Given the description of an element on the screen output the (x, y) to click on. 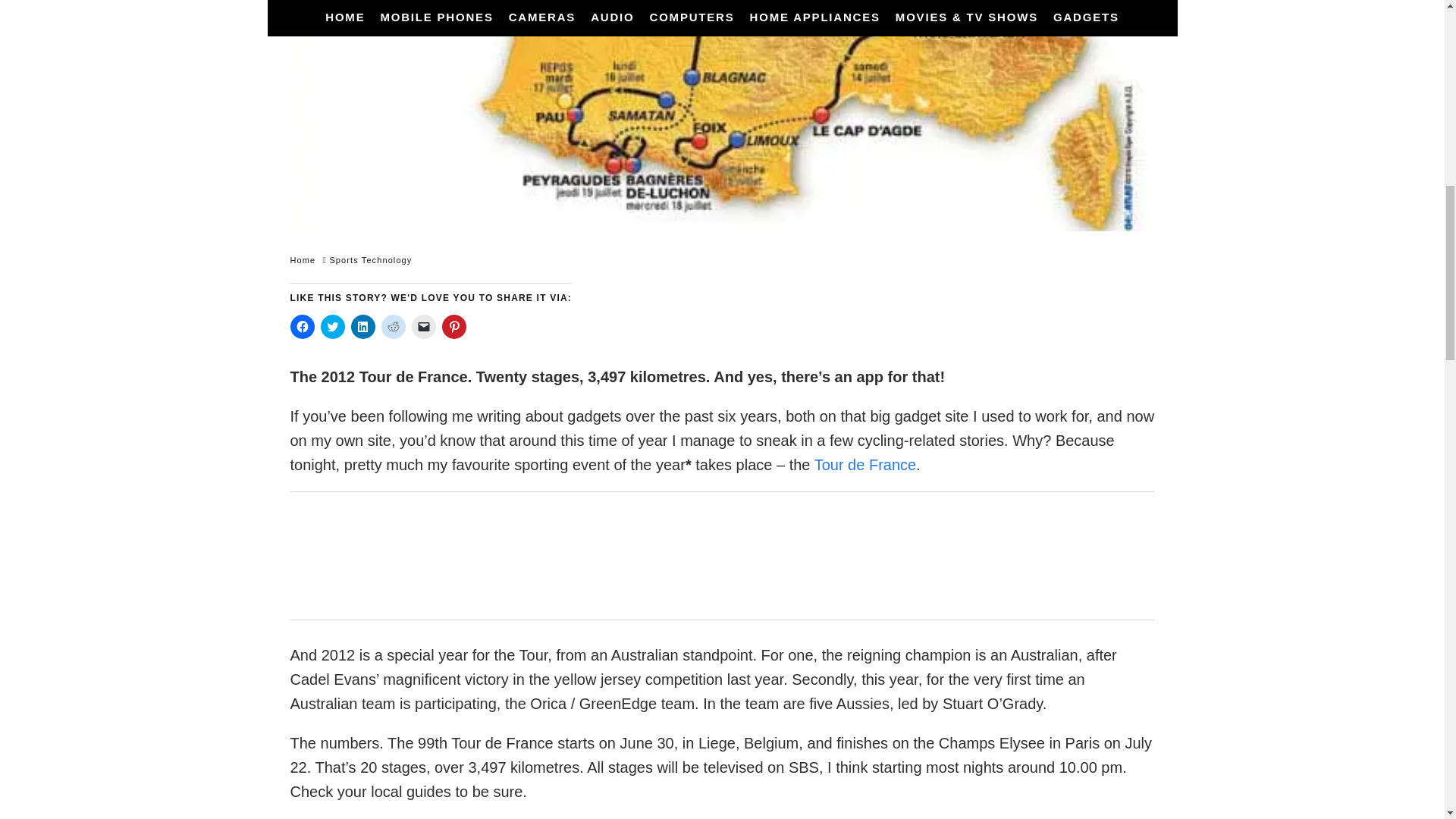
Click to share on Twitter (331, 326)
Home (302, 259)
Click to share on LinkedIn (362, 326)
Click to share on Facebook (301, 326)
Click to email a link to a friend (422, 326)
Sports Technology (370, 259)
Click to share on Pinterest (453, 326)
read more Tour de France and cycling stories on TechStyles (865, 464)
Click to share on Reddit (392, 326)
